Given the description of an element on the screen output the (x, y) to click on. 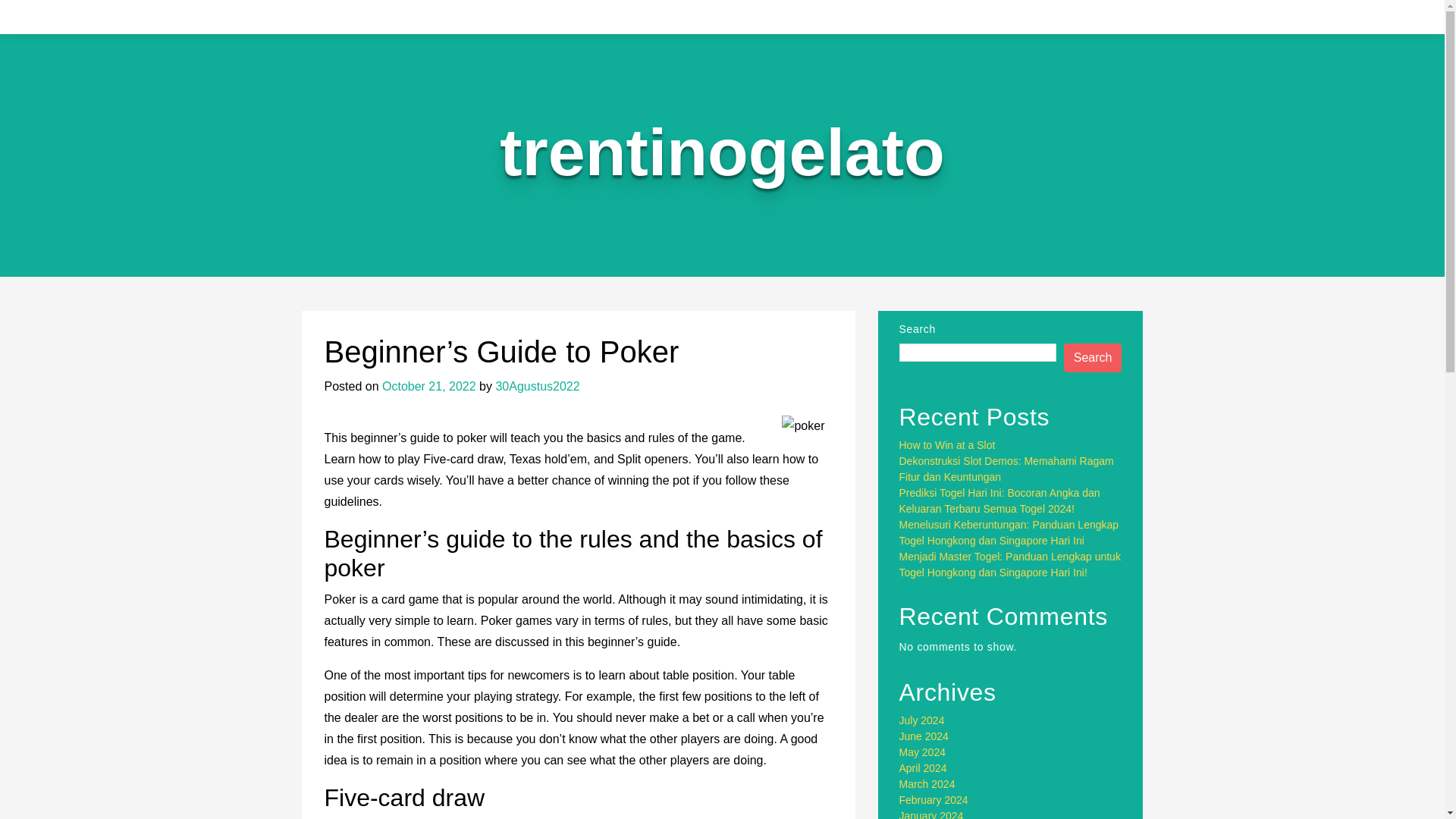
Search (1093, 357)
October 21, 2022 (428, 386)
Dekonstruksi Slot Demos: Memahami Ragam Fitur dan Keuntungan (1006, 469)
How to Win at a Slot (947, 444)
April 2024 (923, 767)
June 2024 (924, 736)
March 2024 (927, 784)
February 2024 (933, 799)
May 2024 (921, 752)
January 2024 (931, 814)
July 2024 (921, 720)
30Agustus2022 (537, 386)
